Given the description of an element on the screen output the (x, y) to click on. 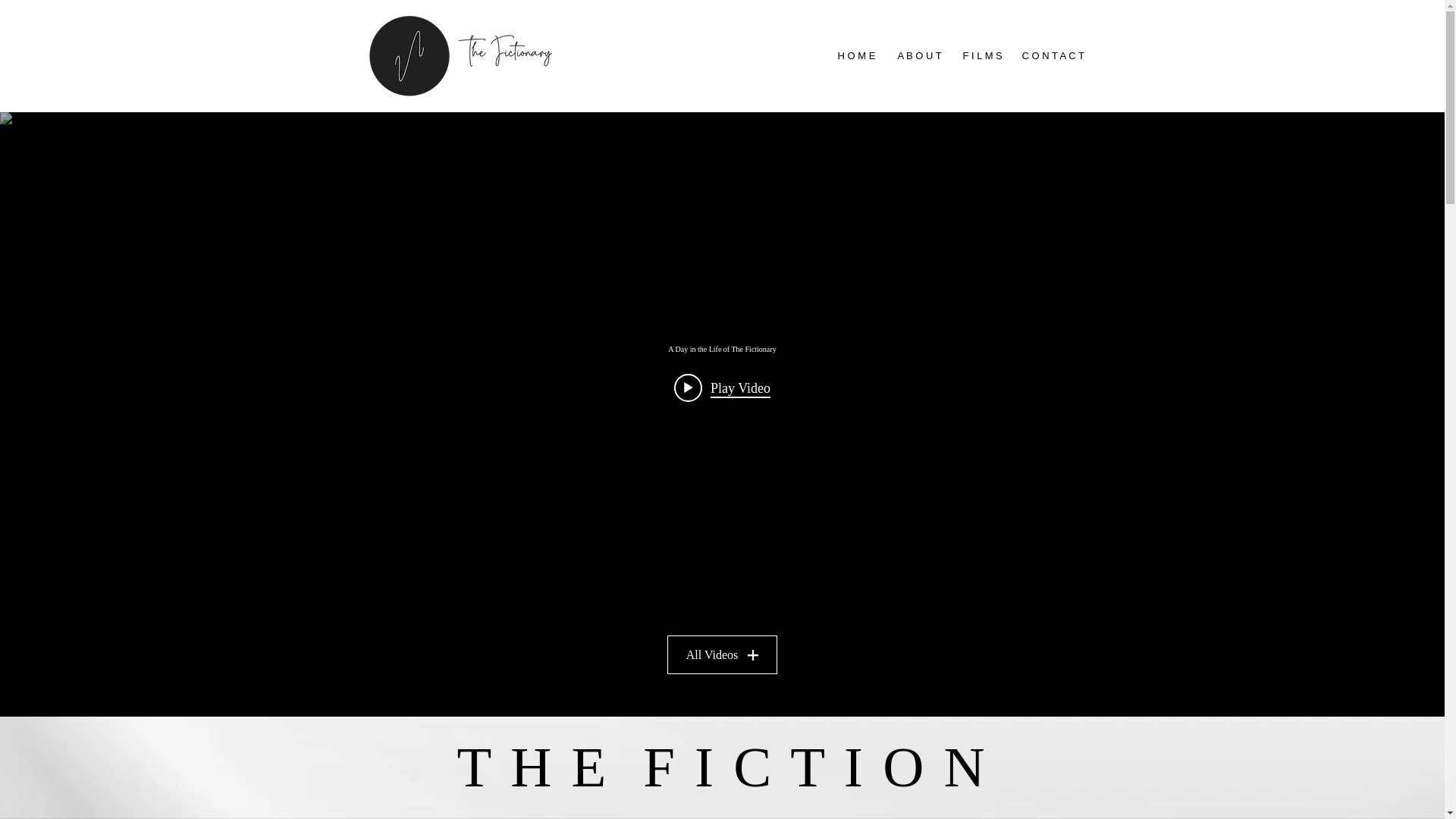
C O N T A C T (1051, 55)
A B O U T (917, 55)
Play Video (722, 387)
F I L M S (980, 55)
A Day in the Life of The Fictionary (721, 348)
H O M E (856, 55)
All Videos (721, 654)
